Given the description of an element on the screen output the (x, y) to click on. 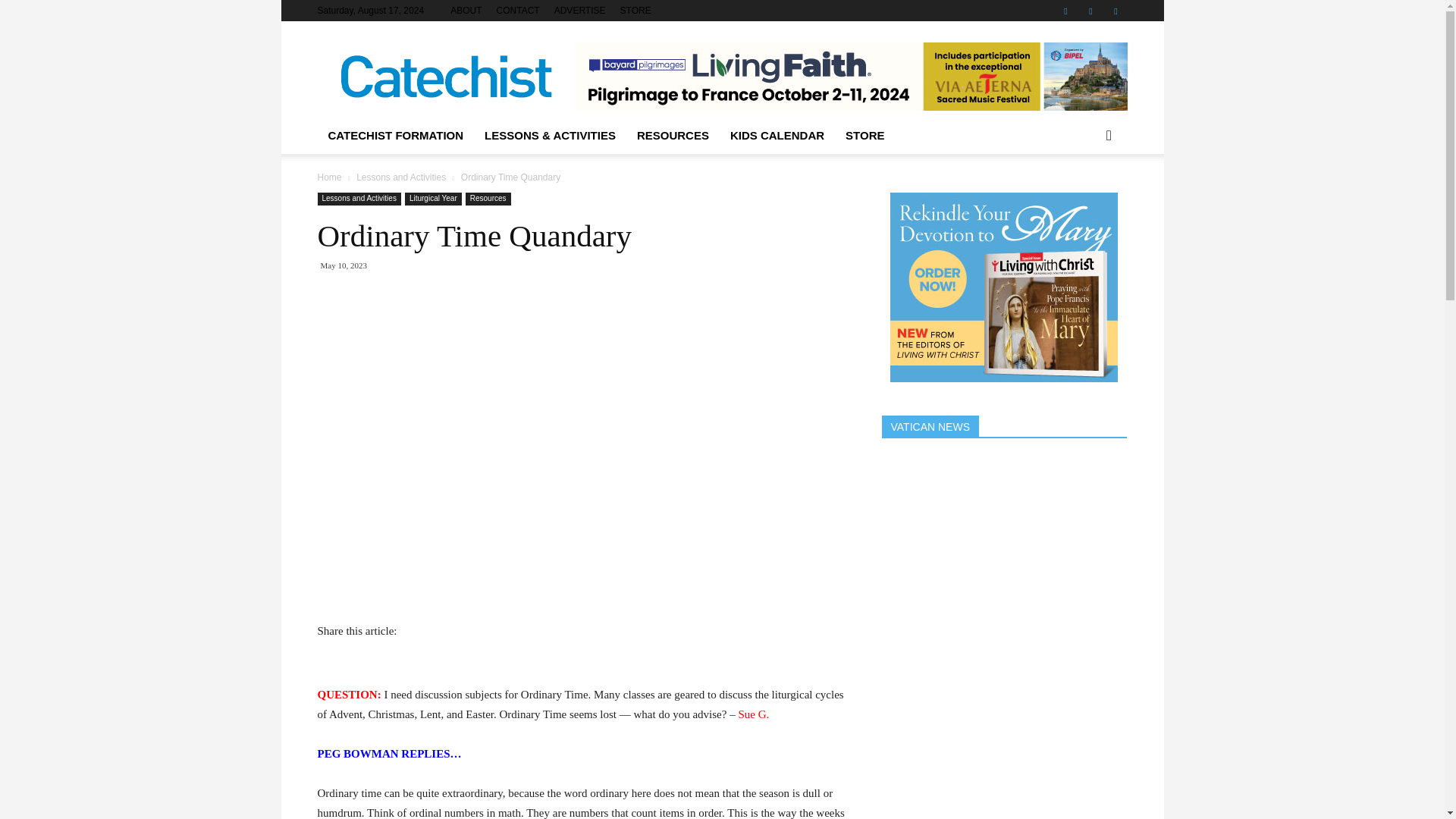
Twitter (1114, 10)
ABOUT (465, 9)
Facebook (1065, 10)
Pilgrimages Banner Ad (850, 76)
Pinterest (1090, 10)
View all posts in Lessons and Activities (400, 176)
Catechist Magazine (445, 76)
